Given the description of an element on the screen output the (x, y) to click on. 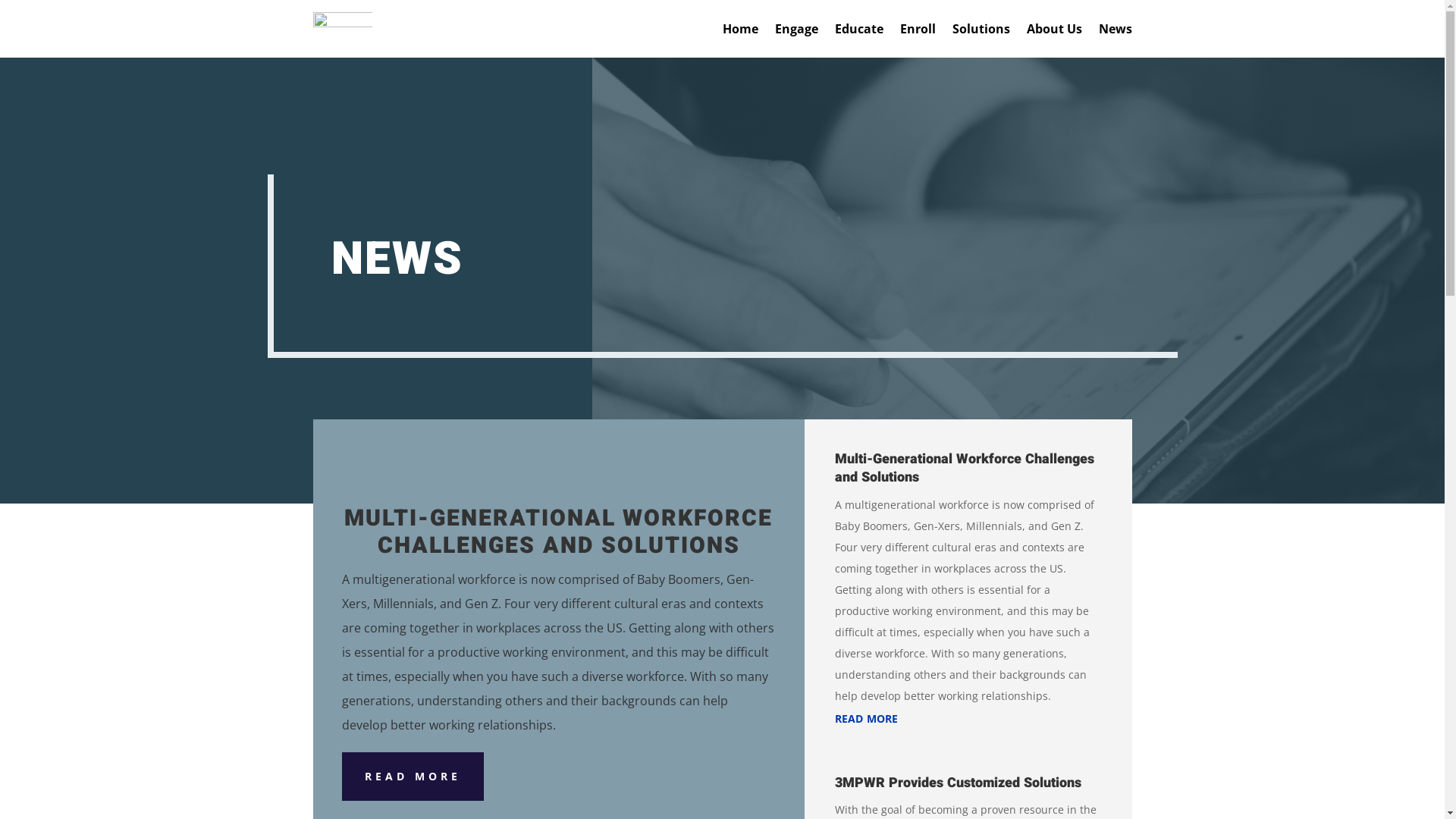
MULTI-GENERATIONAL WORKFORCE CHALLENGES AND SOLUTIONS Element type: text (558, 532)
Home Element type: text (739, 28)
News Element type: text (1114, 28)
READ MORE Element type: text (412, 776)
Enroll Element type: text (917, 28)
Educate Element type: text (858, 28)
read more Element type: text (967, 717)
3MPWR Provides Customized Solutions Element type: text (957, 782)
About Us Element type: text (1054, 28)
Multi-Generational Workforce Challenges and Solutions Element type: text (963, 467)
Solutions Element type: text (981, 28)
Engage Element type: text (796, 28)
